Given the description of an element on the screen output the (x, y) to click on. 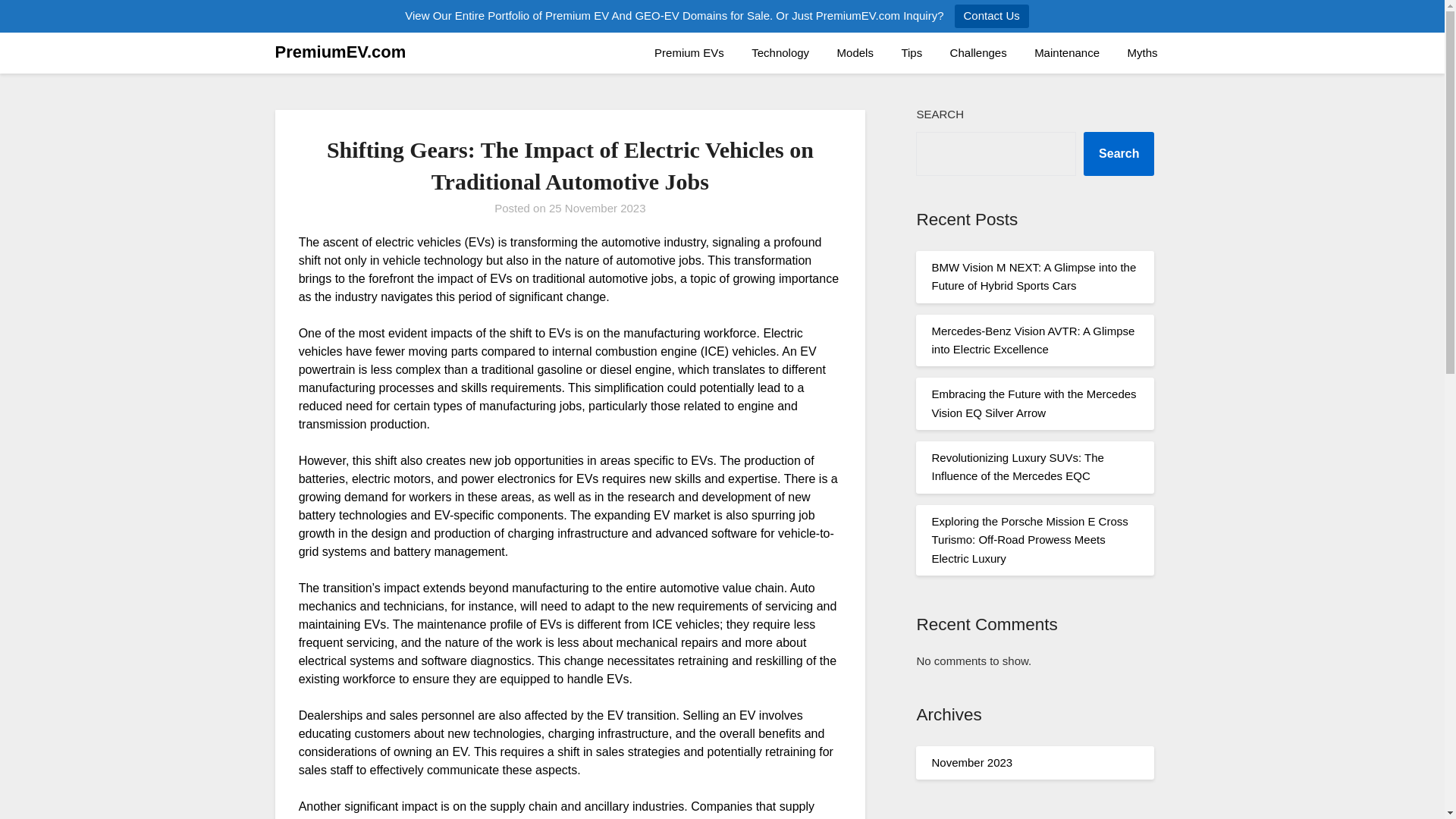
November 2023 (971, 762)
Search (1118, 153)
Maintenance (1067, 52)
Myths (1142, 52)
25 November 2023 (597, 207)
Contact Us (992, 15)
Models (855, 52)
Challenges (978, 52)
PremiumEV.com (340, 52)
Technology (780, 52)
Premium EVs (689, 52)
